Given the description of an element on the screen output the (x, y) to click on. 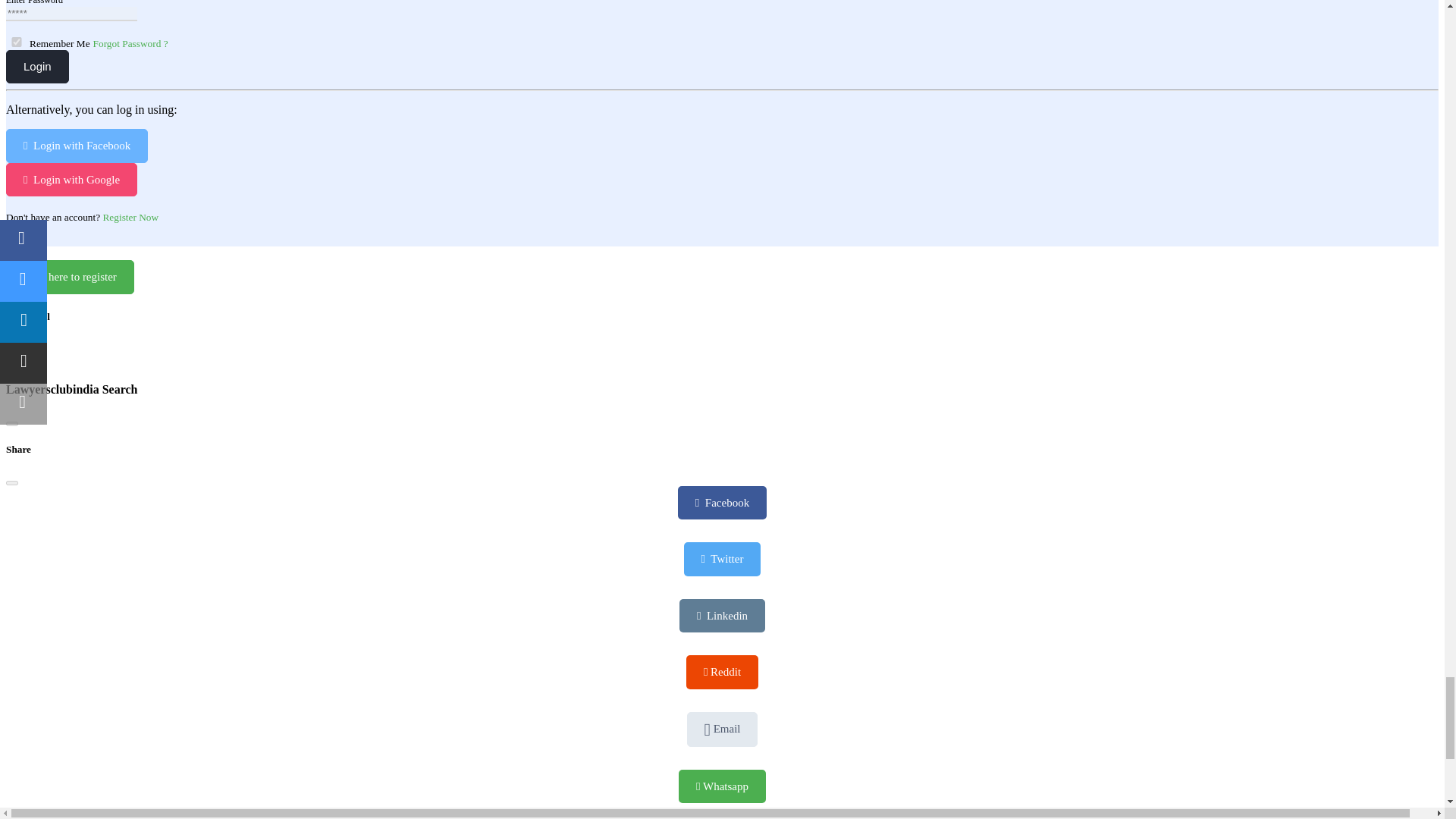
1 (16, 41)
Login (36, 66)
